Given the description of an element on the screen output the (x, y) to click on. 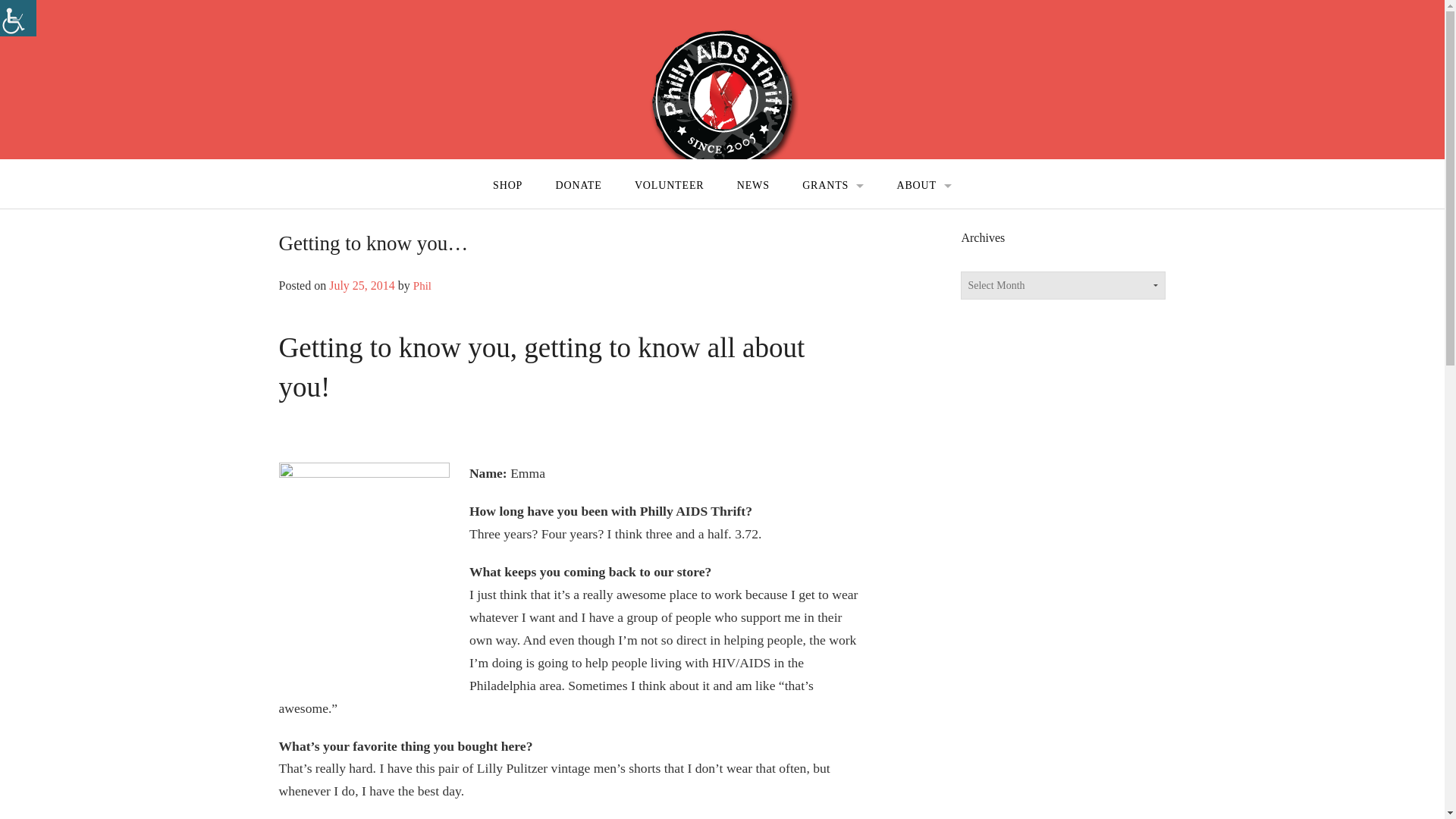
Phil (421, 285)
APPLY (832, 214)
DONATE (577, 185)
GRANTS (832, 185)
NEWS (753, 185)
ABOUT (924, 185)
DIRECTIONS (924, 214)
VOLUNTEER (668, 185)
Accessibility Helper sidebar (18, 18)
July 25, 2014 (361, 285)
SHOP (507, 185)
